Given the description of an element on the screen output the (x, y) to click on. 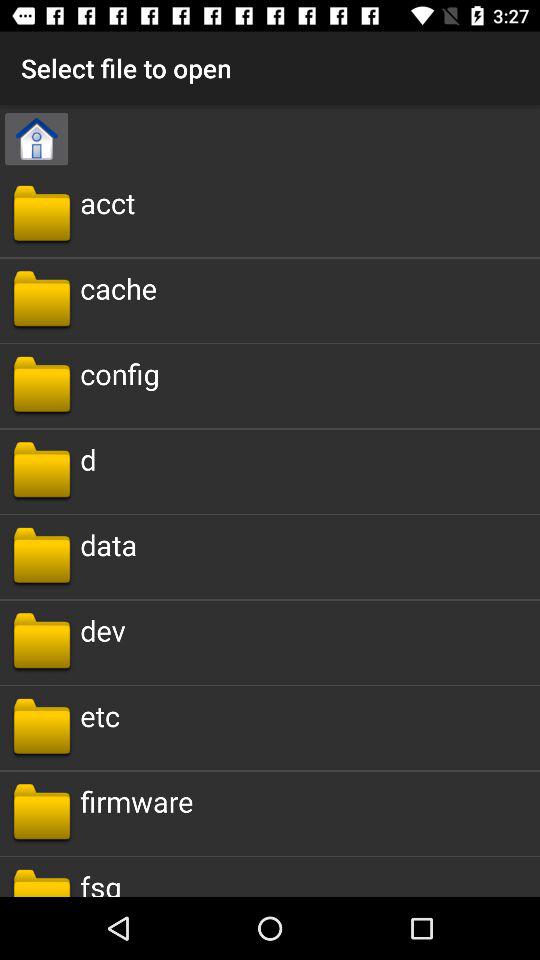
select etc (100, 715)
